Given the description of an element on the screen output the (x, y) to click on. 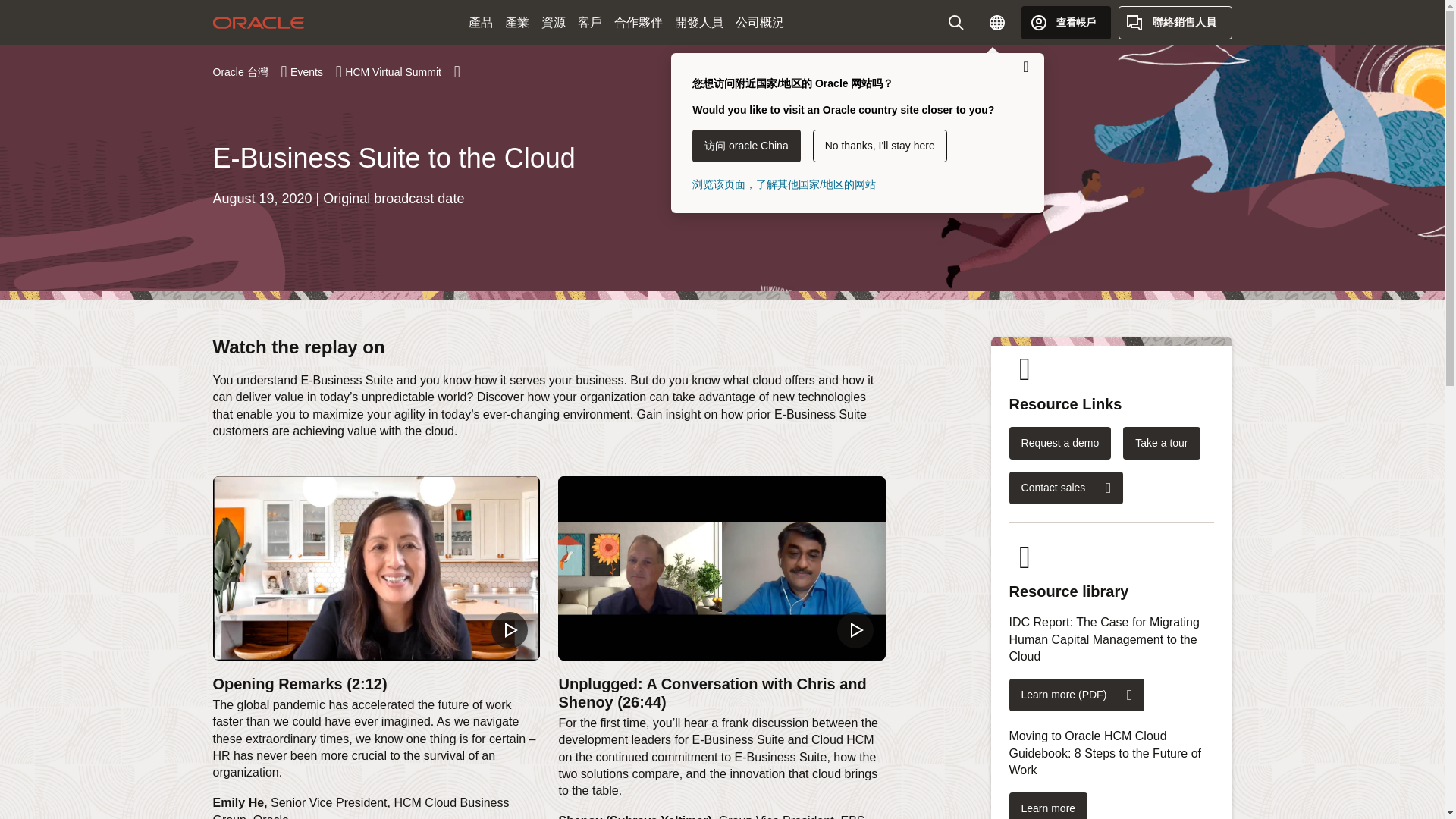
HCM Virtual Summit (402, 71)
Country (996, 22)
No thanks, I'll stay here (879, 145)
Events (315, 71)
